Given the description of an element on the screen output the (x, y) to click on. 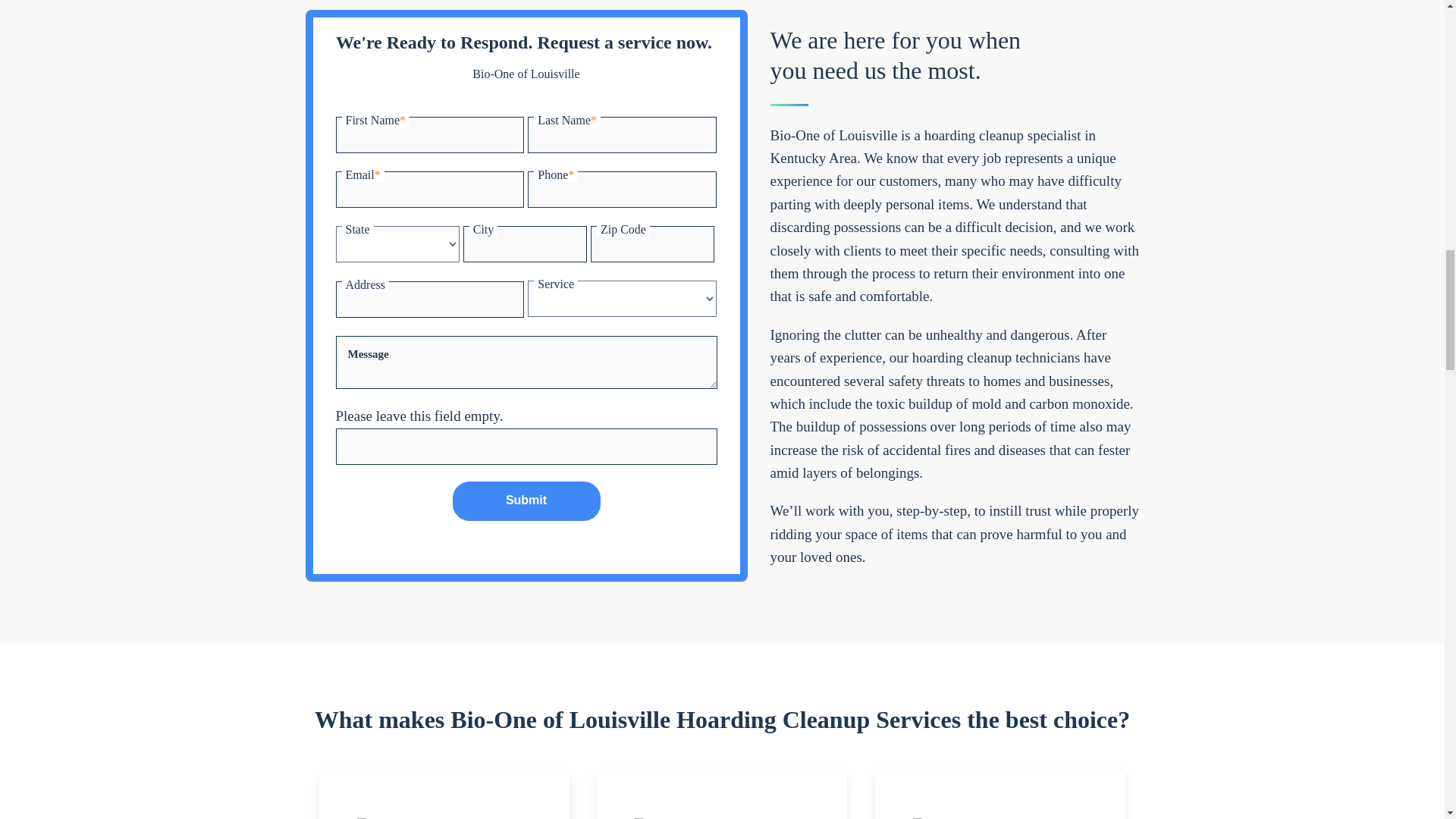
Submit (525, 501)
Submit (525, 501)
